Given the description of an element on the screen output the (x, y) to click on. 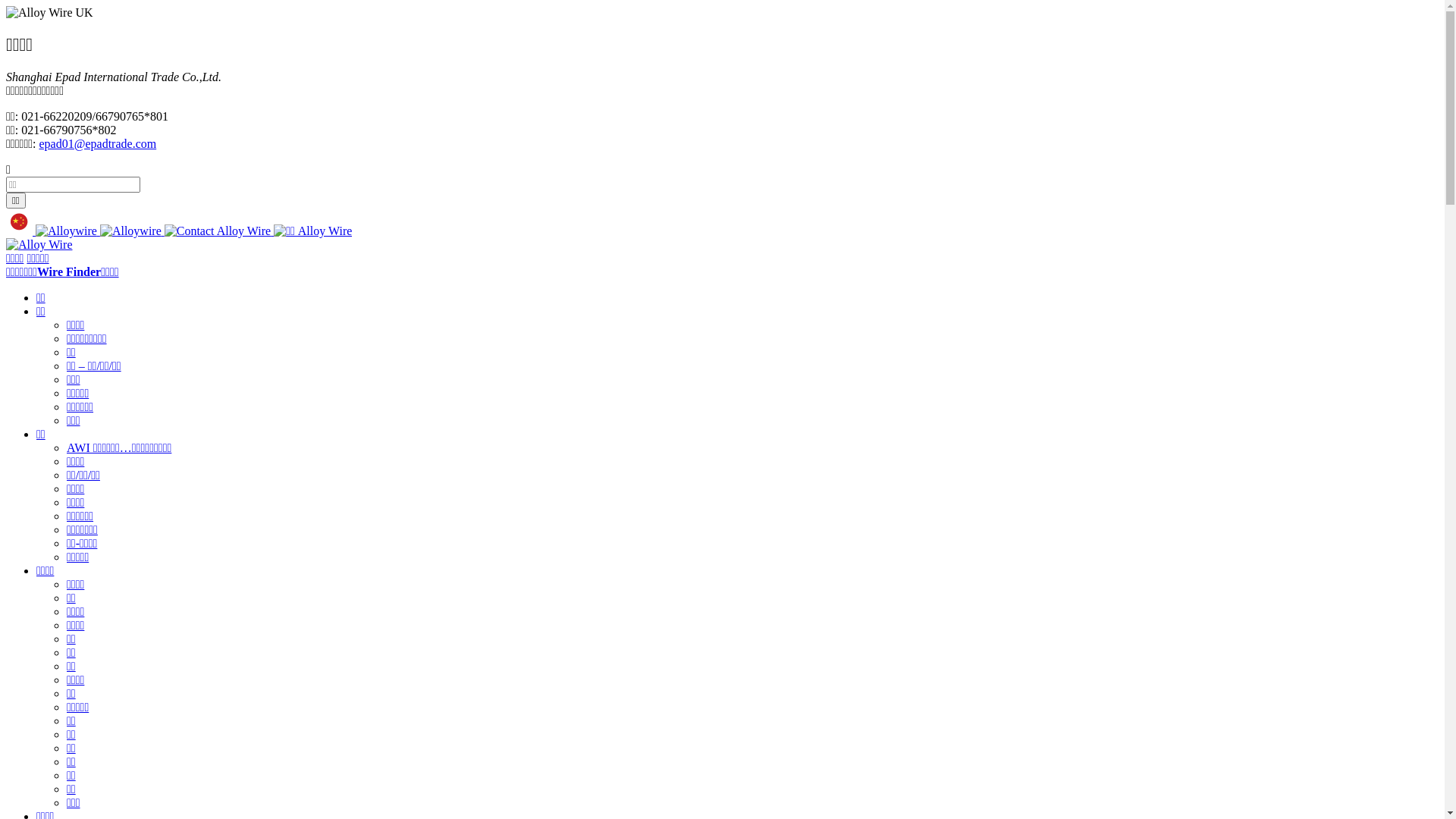
epad01@epadtrade.com Element type: text (97, 143)
